Given the description of an element on the screen output the (x, y) to click on. 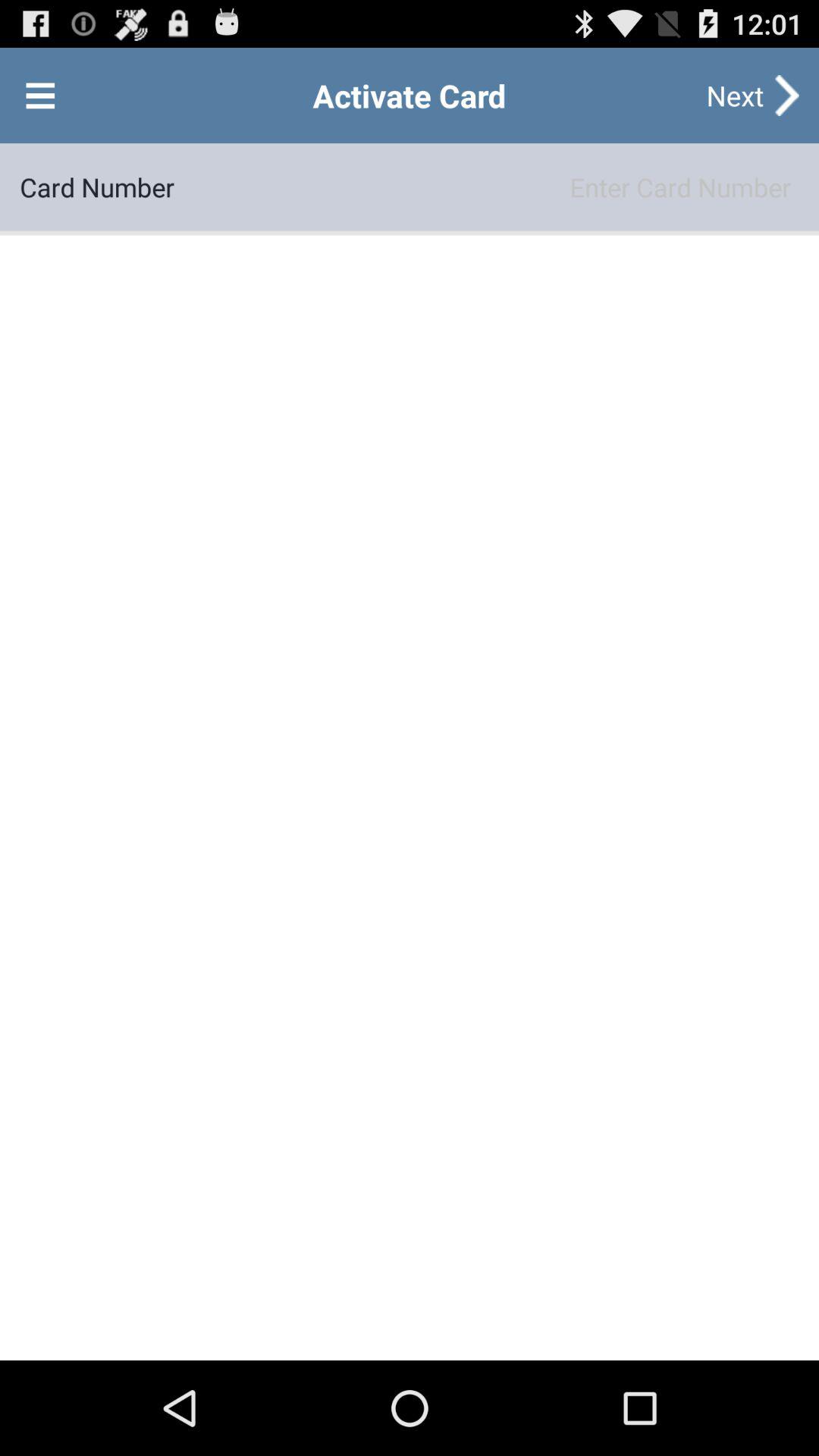
launch the item to the right of card number item (486, 186)
